Given the description of an element on the screen output the (x, y) to click on. 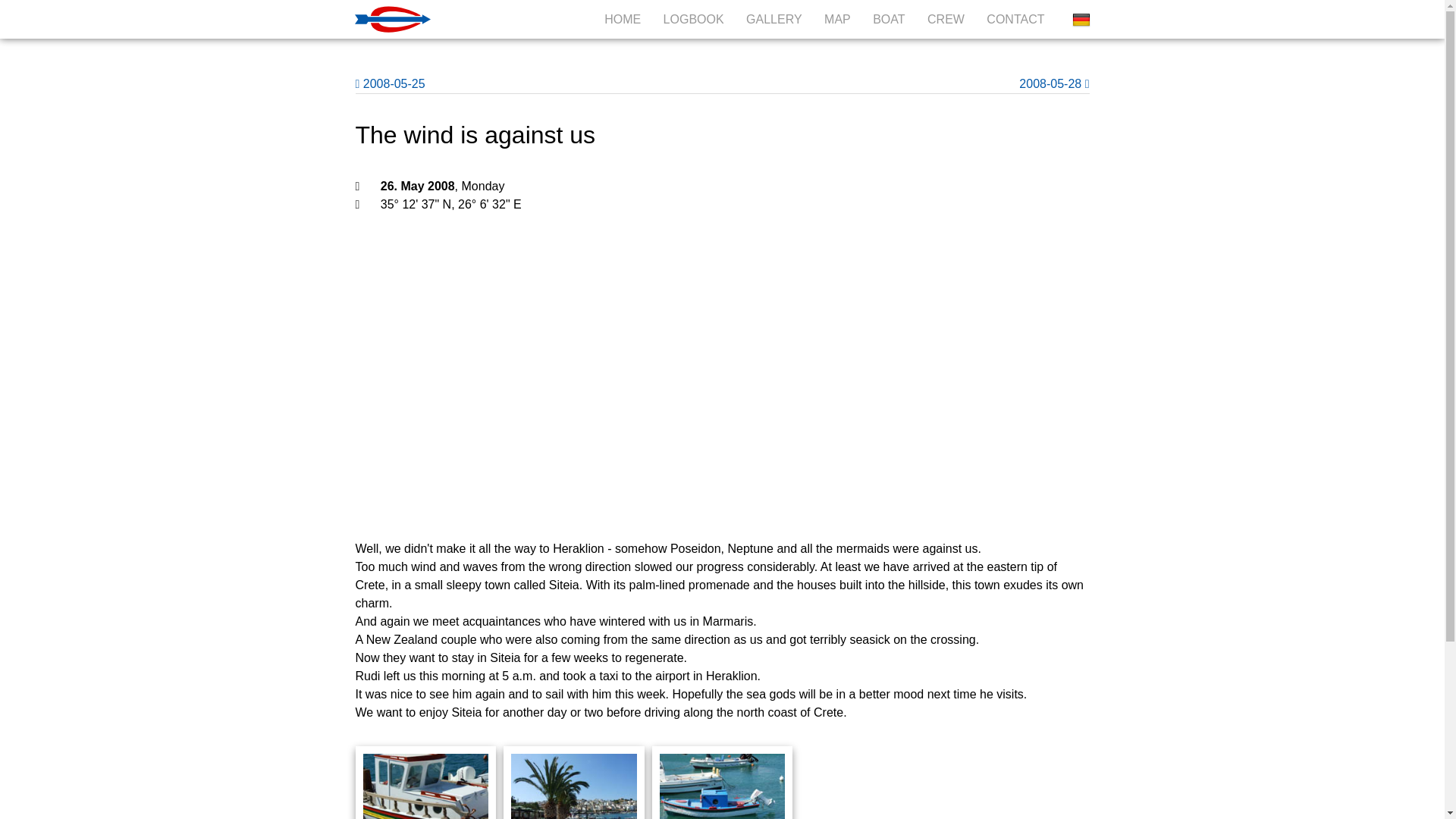
GALLERY (773, 19)
CREW (945, 19)
BOAT (888, 19)
Startseite (400, 18)
MAP (837, 19)
LOGBOOK (693, 19)
2008-05-28 (1054, 83)
CONTACT (1015, 19)
2008-05-25 (390, 83)
HOME (622, 19)
